Given the description of an element on the screen output the (x, y) to click on. 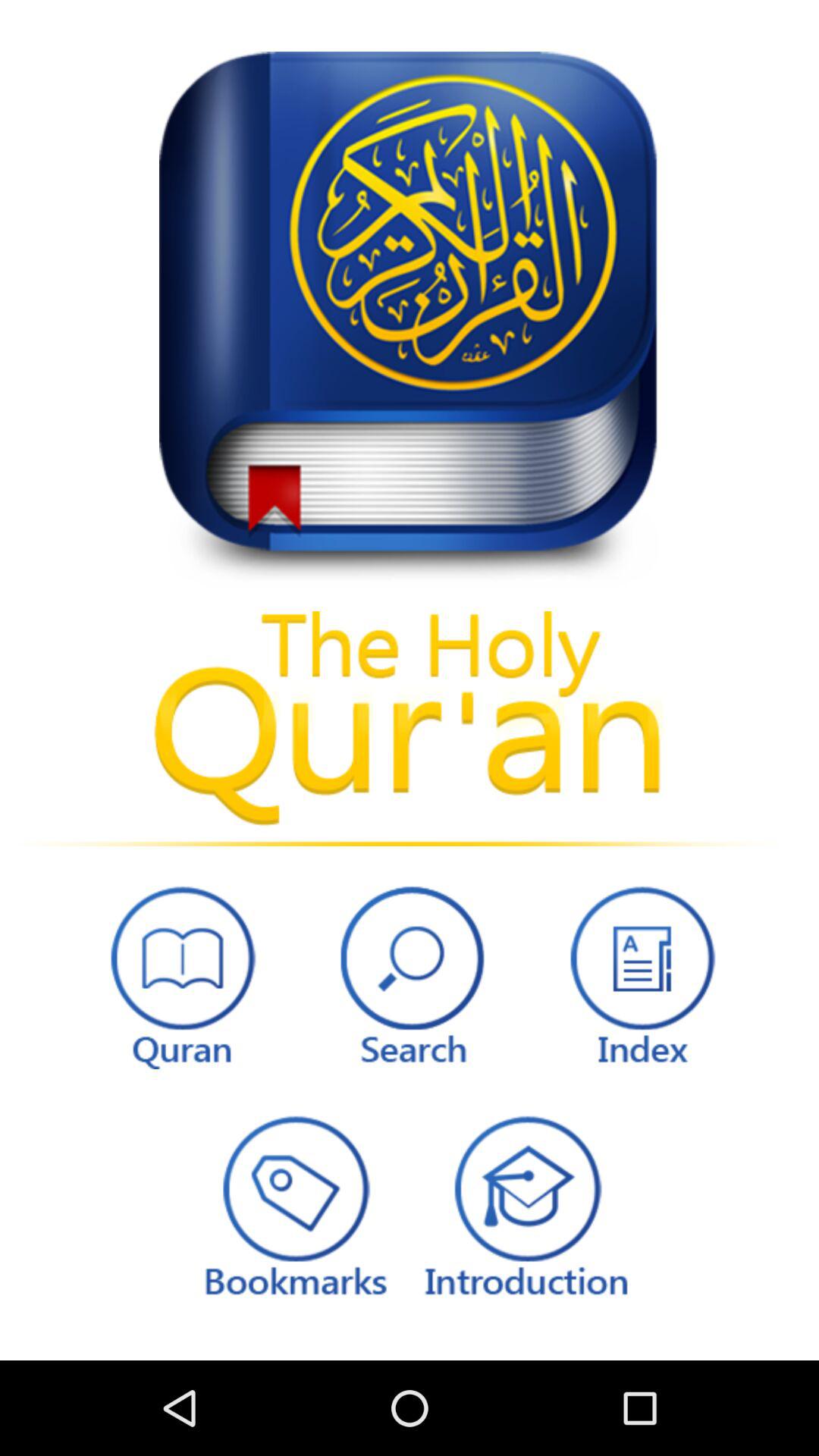
edit bookmarks option (292, 1204)
